Given the description of an element on the screen output the (x, y) to click on. 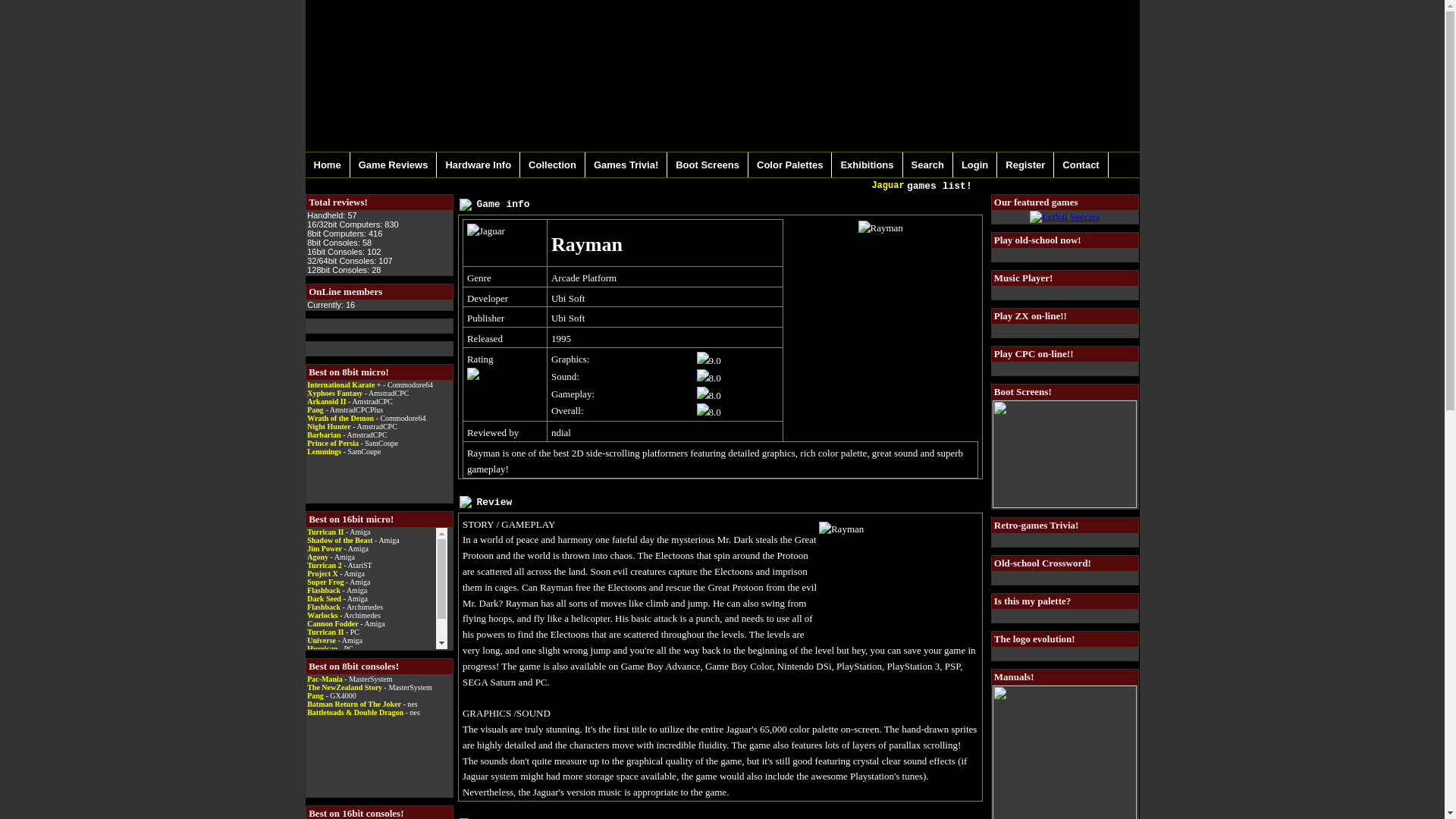
Cannon Fodder (332, 623)
Jim Power (324, 548)
Games Trivia! (625, 164)
Collection (552, 164)
Wrath of the Demon (340, 418)
Lemmings (323, 451)
Turrican 2 (323, 565)
Warlocks (322, 614)
Barbarian (323, 434)
Flashback (323, 606)
